Given the description of an element on the screen output the (x, y) to click on. 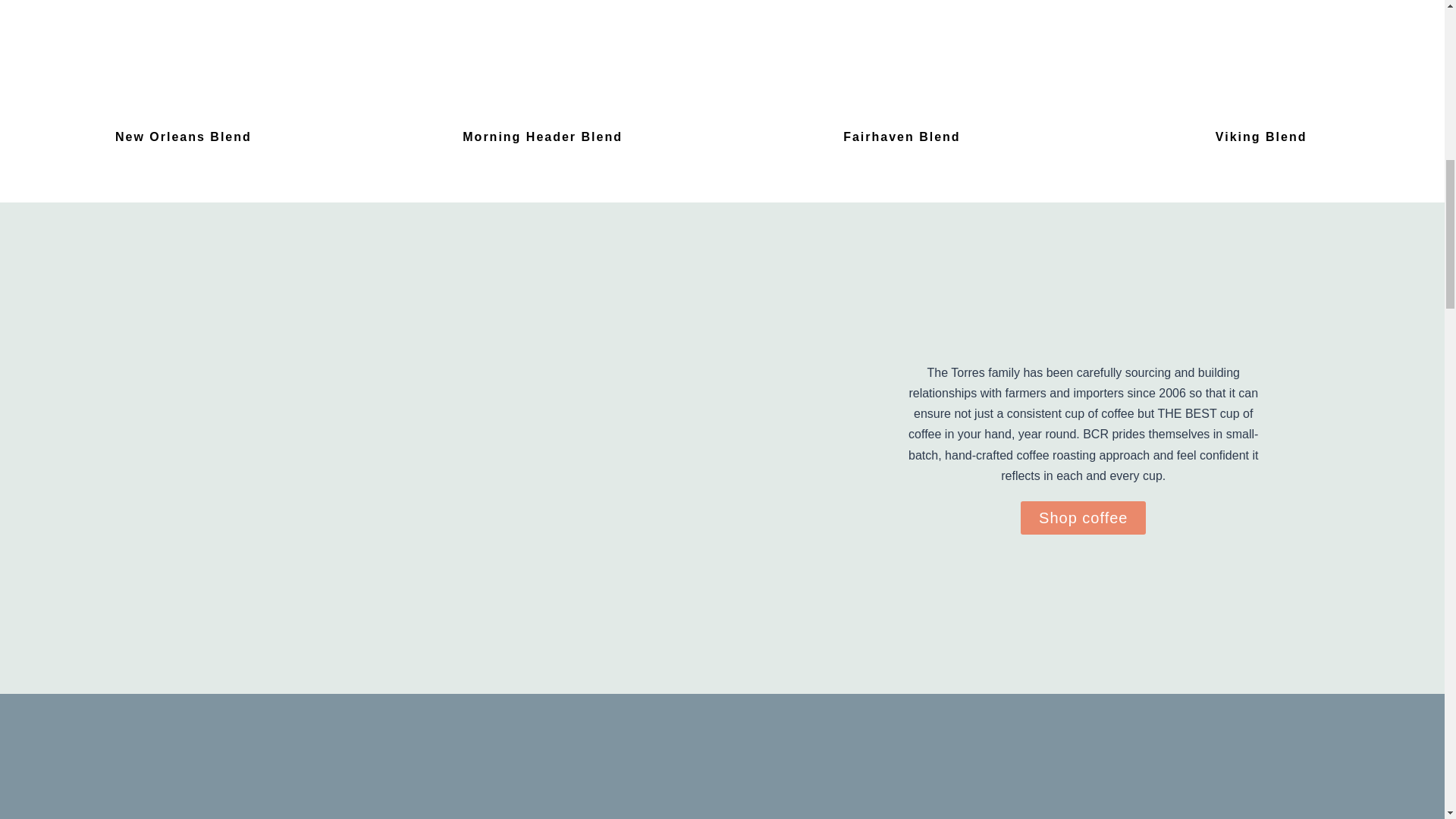
New Orleans Blend (183, 136)
Shop coffee (1082, 517)
Morning Header Blend (543, 136)
Fairhaven Blend (901, 136)
Viking Blend (1261, 136)
